Given the description of an element on the screen output the (x, y) to click on. 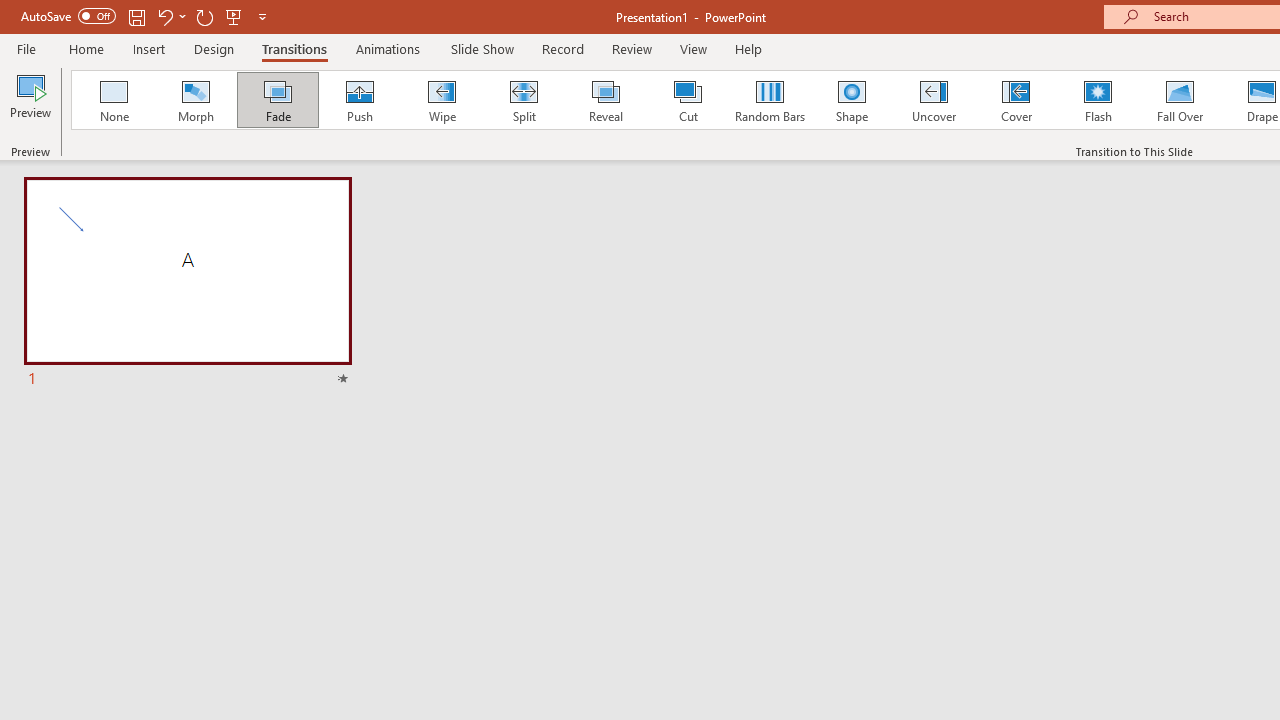
Flash (1098, 100)
Reveal (605, 100)
Wipe (441, 100)
Fade (277, 100)
Random Bars (770, 100)
None (113, 100)
Split (523, 100)
